Given the description of an element on the screen output the (x, y) to click on. 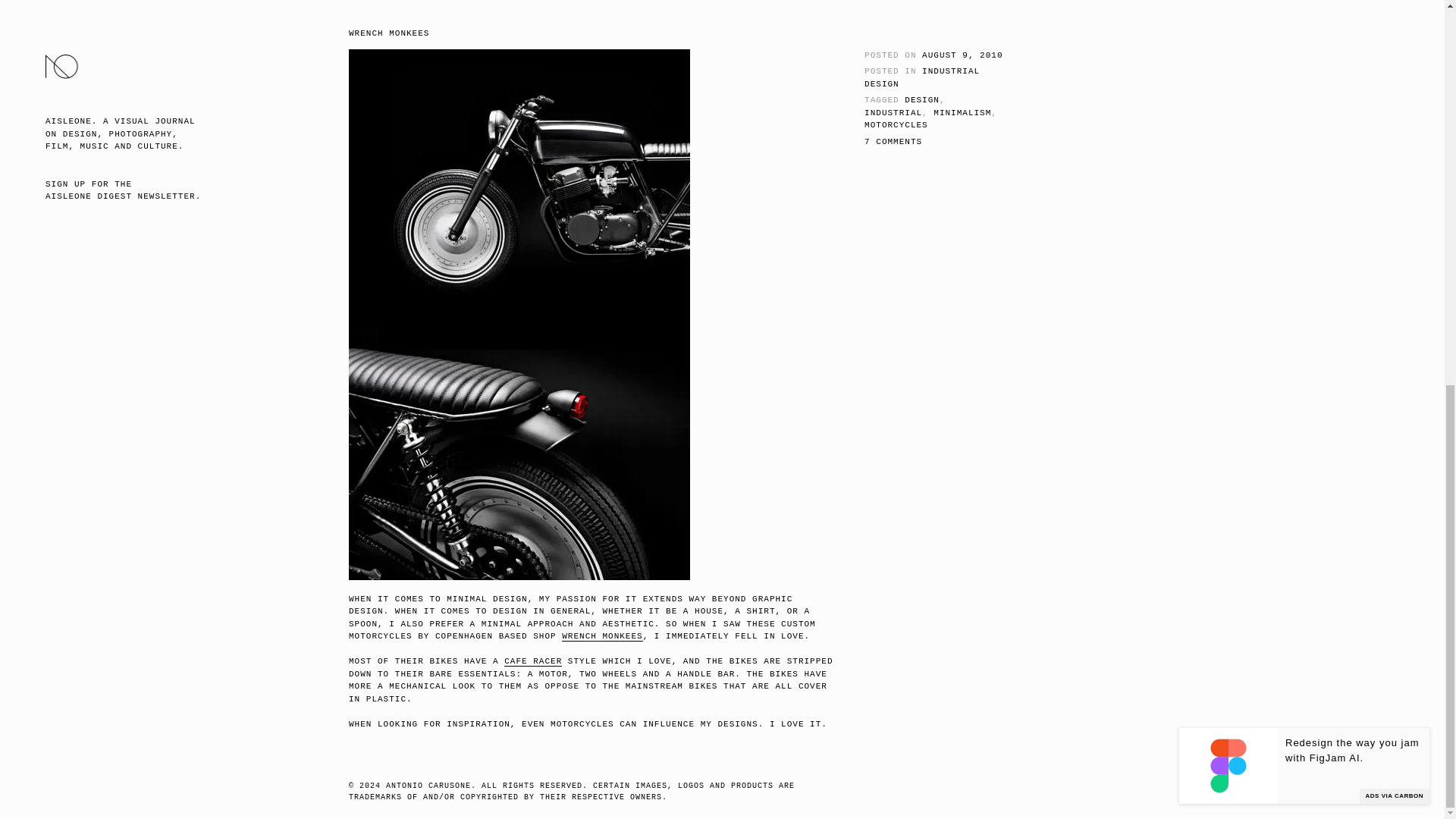
WRENCH MONKEES (602, 636)
MOTORCYCLES (896, 124)
MINIMALISM (962, 112)
WRENCH MONKEES (389, 32)
AUGUST 9, 2010 (962, 54)
DESIGN (921, 99)
ADS VIA CARBON (1394, 70)
INDUSTRIAL (892, 112)
INDUSTRIAL DESIGN (921, 77)
7 COMMENTS (892, 141)
Redesign the way you jam with FigJam AI. (1353, 34)
CAFE RACER (532, 661)
